Given the description of an element on the screen output the (x, y) to click on. 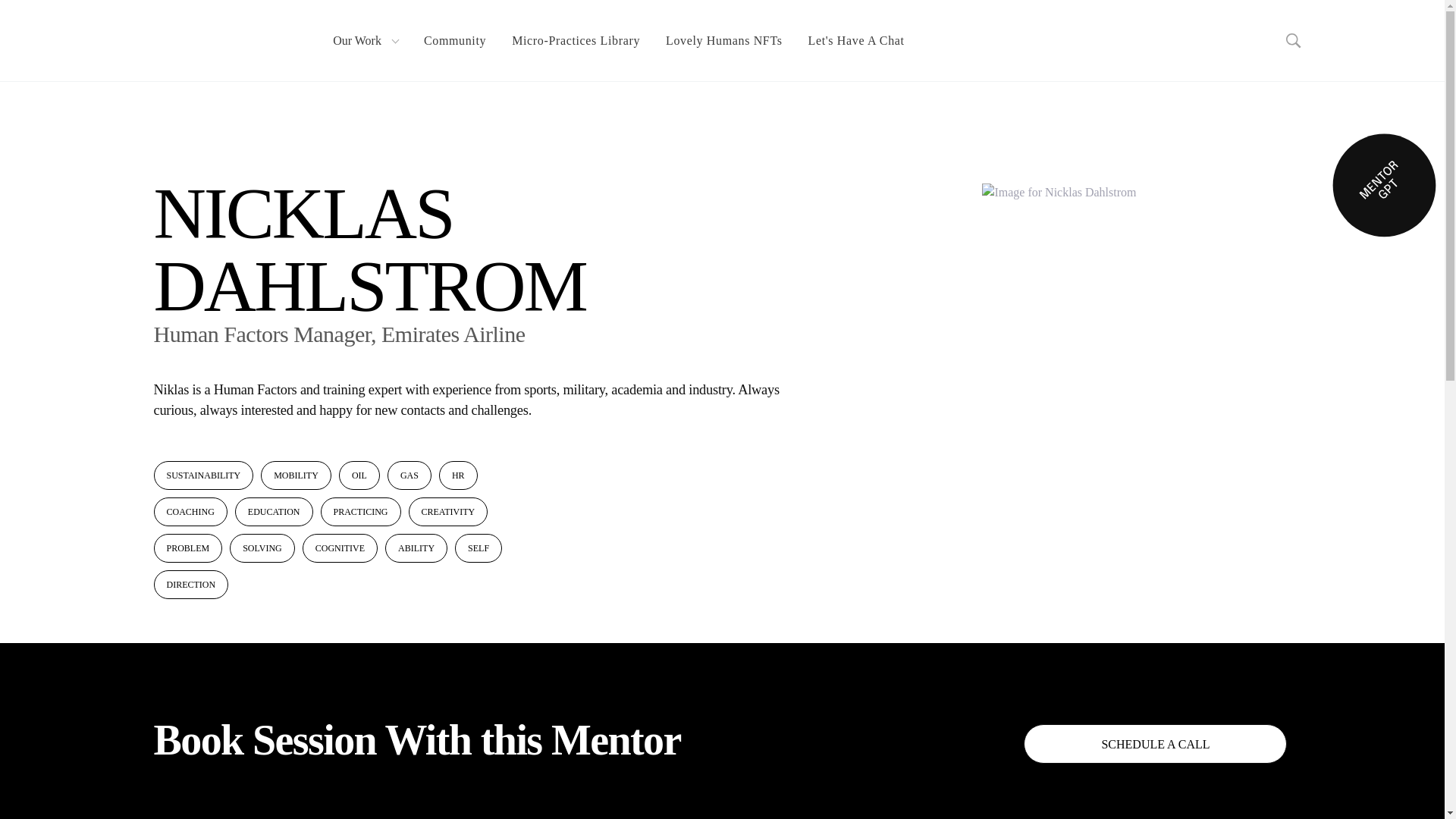
Lovely Humans NFTs (723, 40)
Let's Have A Chat (855, 40)
SCHEDULE A CALL (1155, 743)
Community (454, 40)
Our Work (365, 40)
Micro-Practices Library (575, 40)
